Given the description of an element on the screen output the (x, y) to click on. 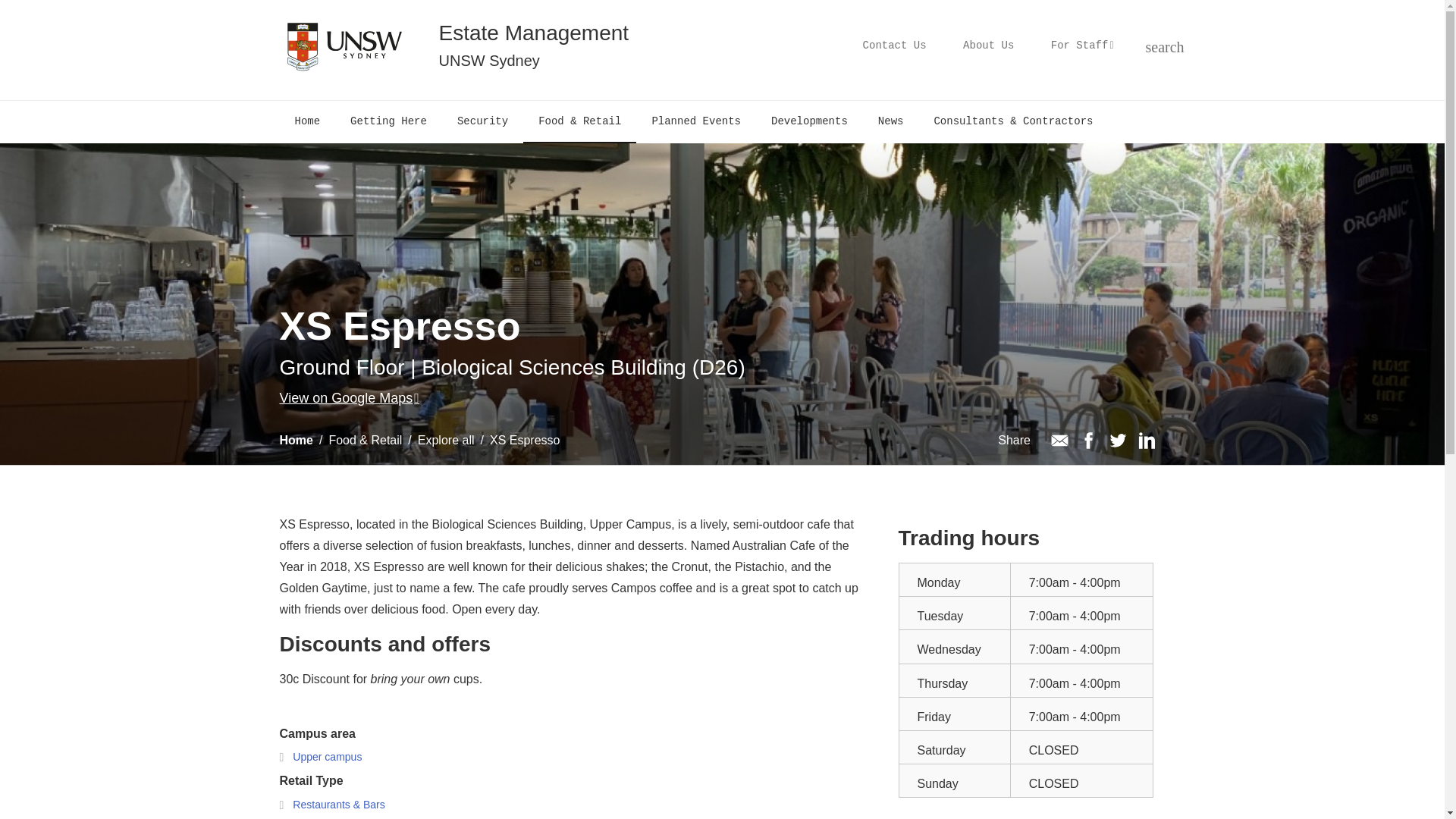
Security (482, 121)
search (1152, 45)
About Us (988, 45)
UNSW Sydney (533, 60)
Estate Management (533, 33)
UNSW (343, 45)
Home (533, 33)
Home (306, 121)
Skip (652, 48)
Getting Here (388, 121)
For Staff (1081, 45)
Planned Events (695, 121)
Contact Us (895, 45)
